Given the description of an element on the screen output the (x, y) to click on. 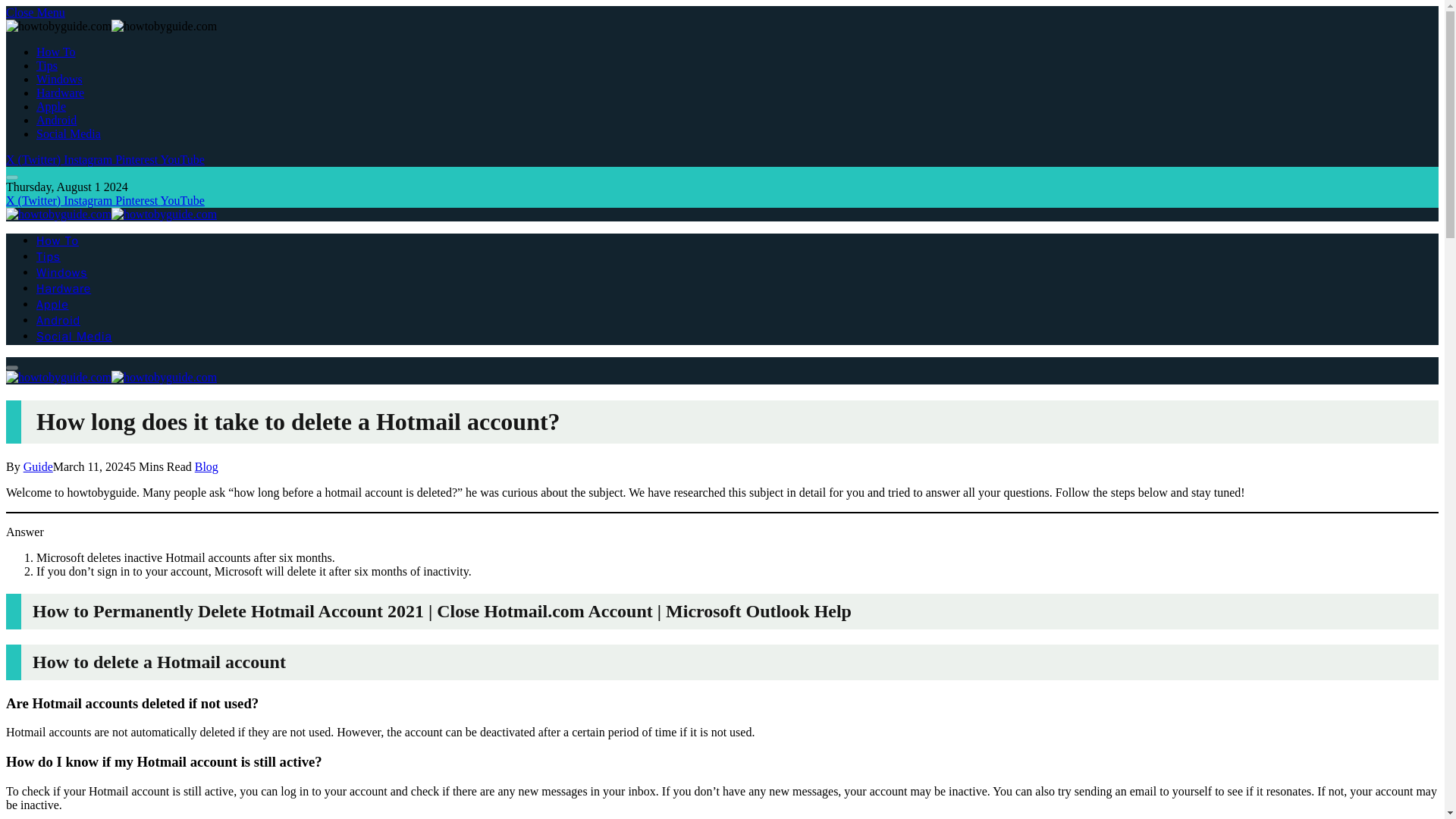
Social Media (74, 336)
Guide (37, 466)
Instagram (89, 200)
Apple (52, 304)
Windows (61, 272)
Hardware (60, 92)
Pinterest (137, 200)
howtobyguide.com (110, 377)
Pinterest (137, 159)
YouTube (182, 200)
Windows (59, 78)
howtobyguide.com (110, 214)
Tips (48, 256)
YouTube (182, 159)
Social Media (68, 133)
